Given the description of an element on the screen output the (x, y) to click on. 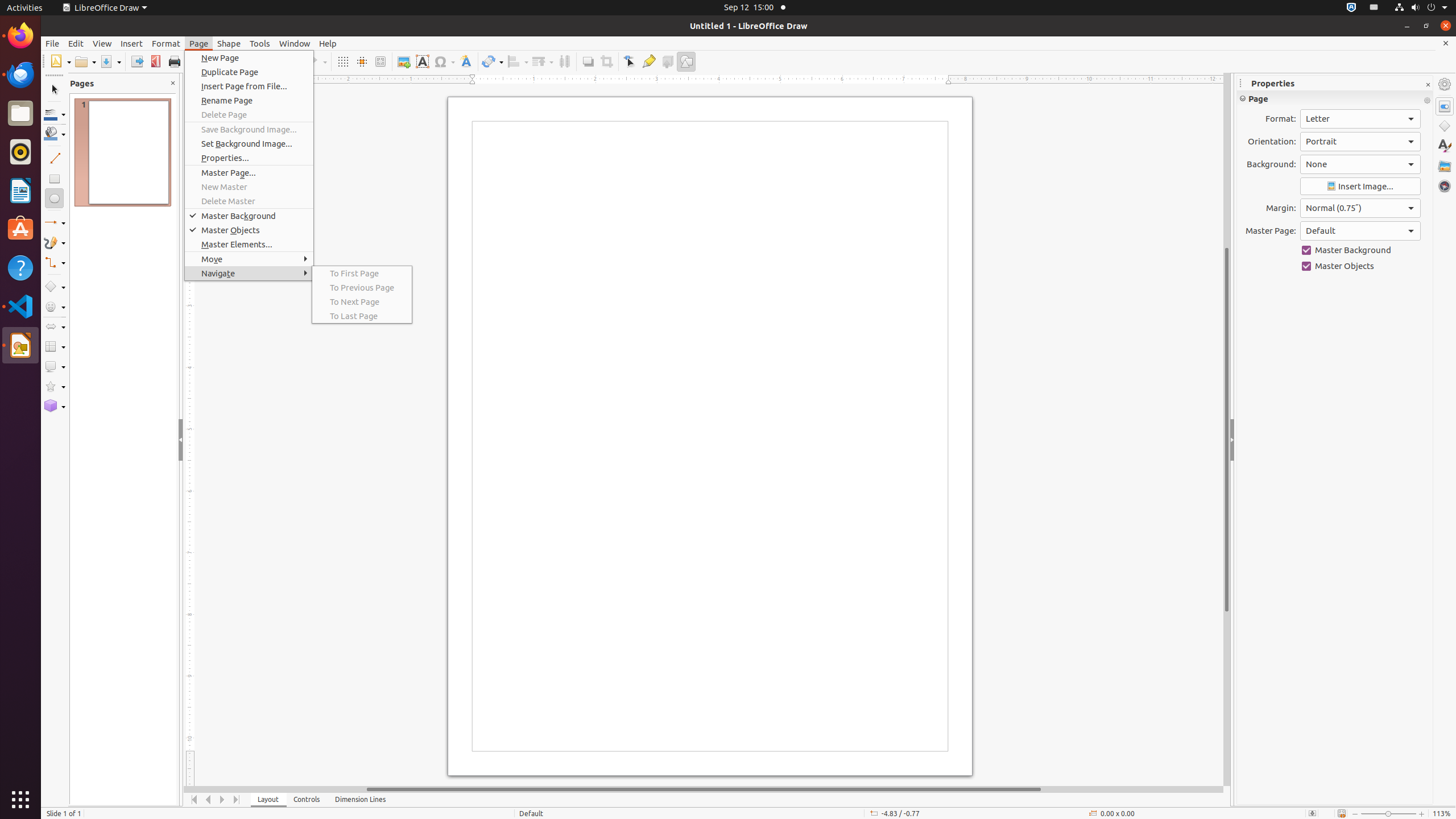
Move Right Element type: push-button (222, 799)
Margin: Element type: combo-box (1360, 207)
Move To Home Element type: push-button (194, 799)
Shadow Element type: toggle-button (587, 61)
To First Page Element type: menu-item (361, 273)
